Given the description of an element on the screen output the (x, y) to click on. 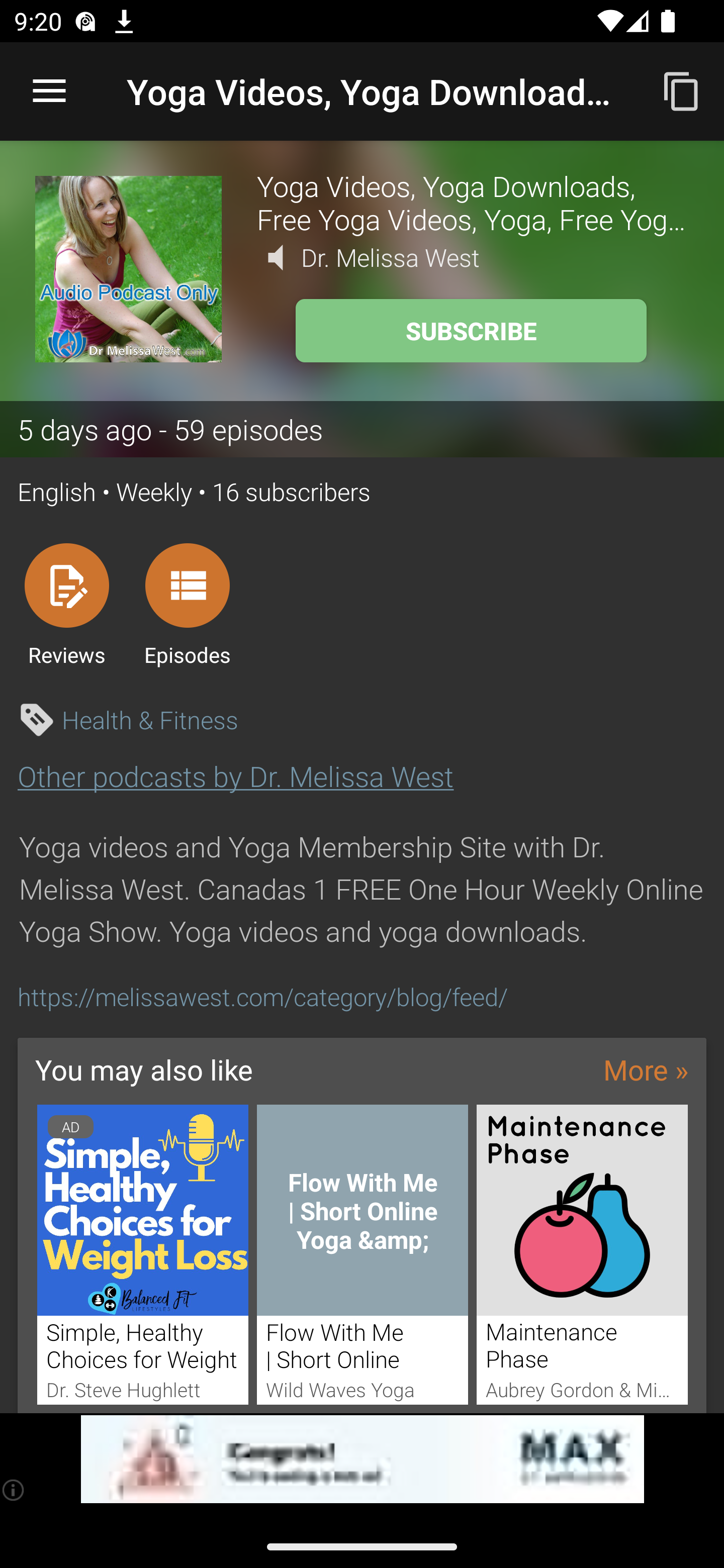
Open navigation sidebar (49, 91)
Copy feed url to clipboard (681, 90)
SUBSCRIBE (470, 330)
Reviews (66, 604)
Episodes (187, 604)
Other podcasts by Dr. Melissa West (235, 775)
More » (645, 1069)
Maintenance Phase Aubrey Gordon & Michael Hobbes (581, 1253)
app-monetization (362, 1459)
(i) (14, 1489)
